Given the description of an element on the screen output the (x, y) to click on. 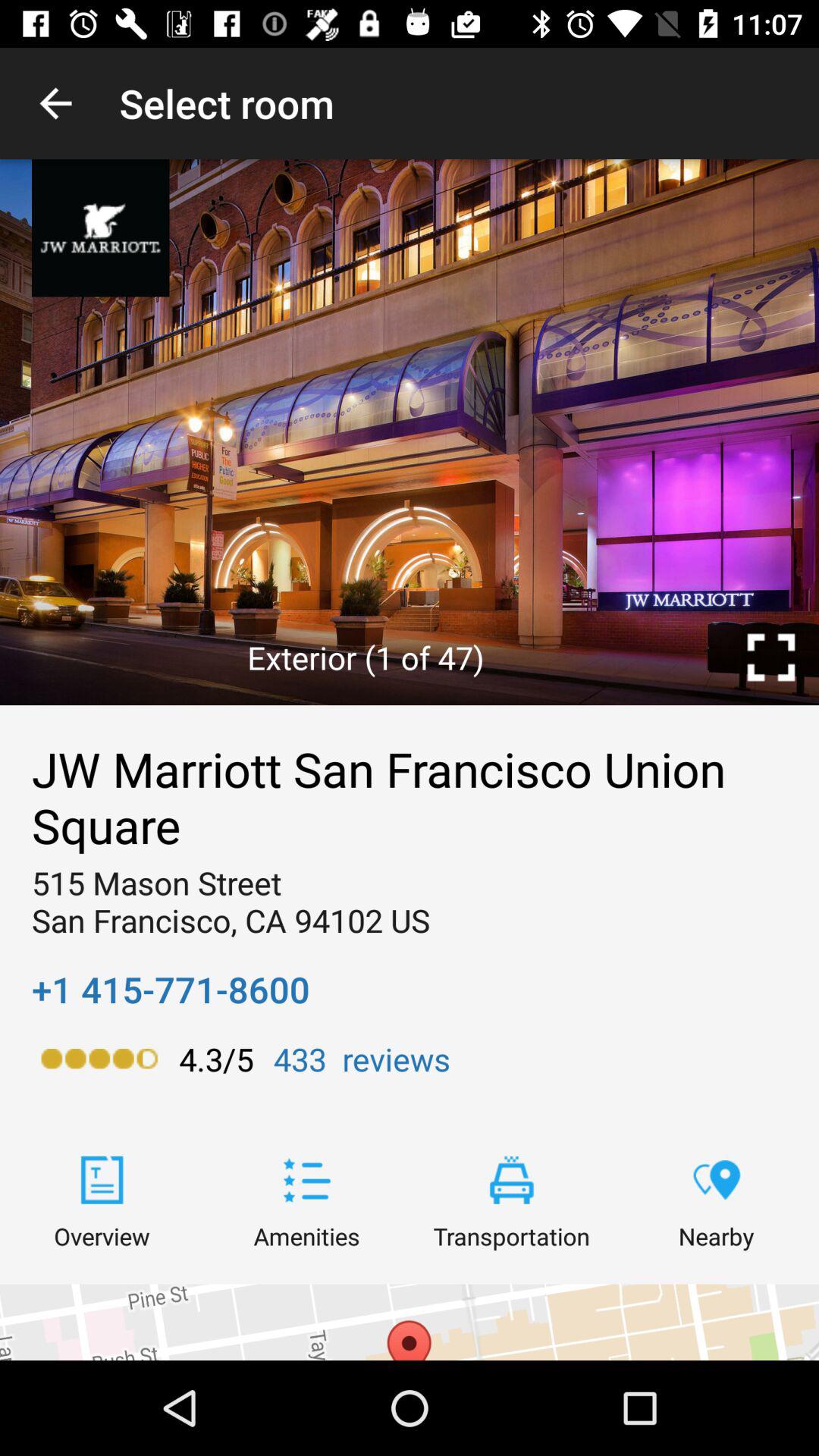
press the icon to the right of the exterior 1 of icon (771, 657)
